Given the description of an element on the screen output the (x, y) to click on. 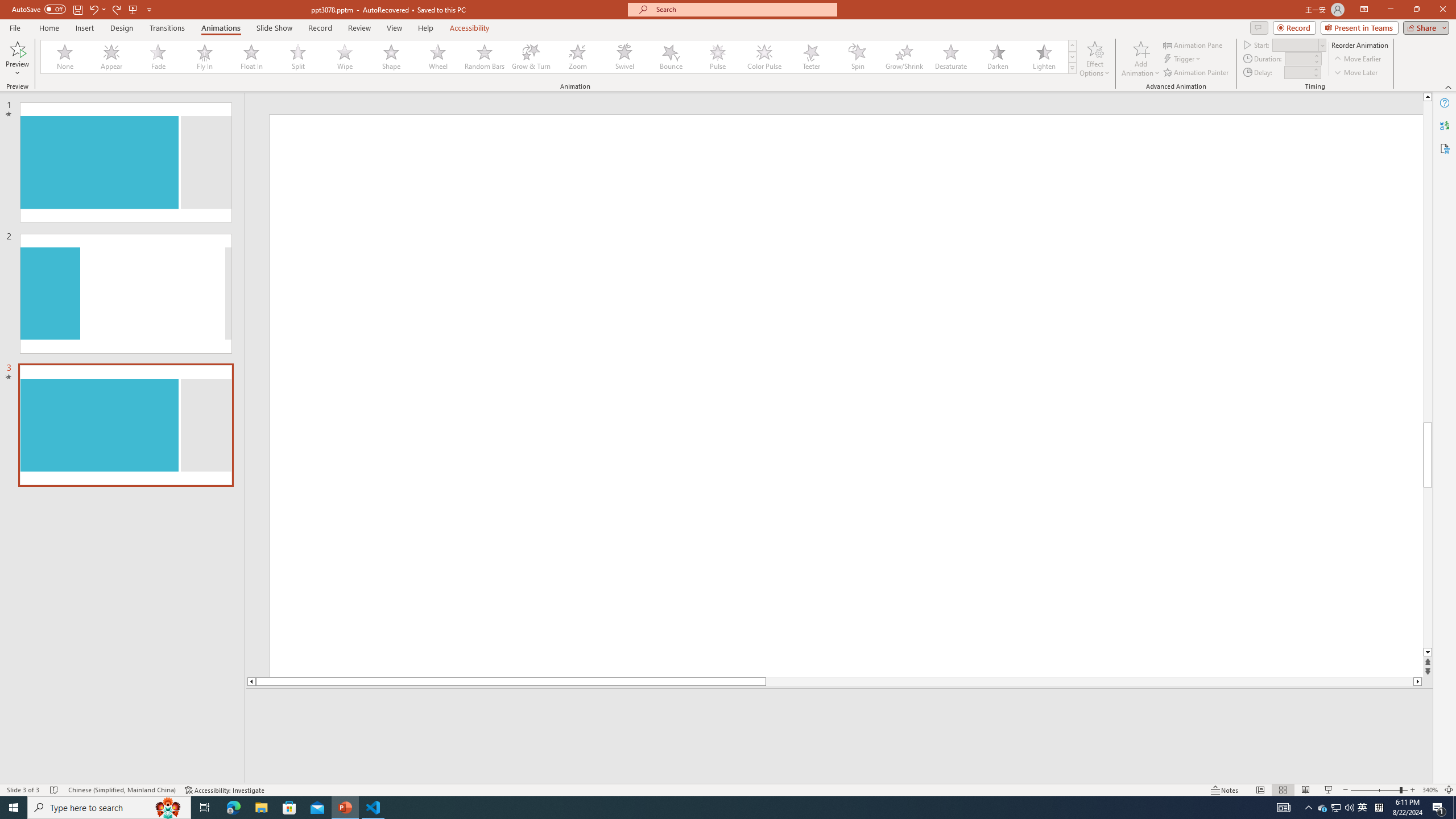
Zoom 340% (1430, 790)
Animation Painter (1196, 72)
Bounce (670, 56)
Animation Duration (1298, 58)
Random Bars (484, 56)
Split (298, 56)
Teeter (810, 56)
